Given the description of an element on the screen output the (x, y) to click on. 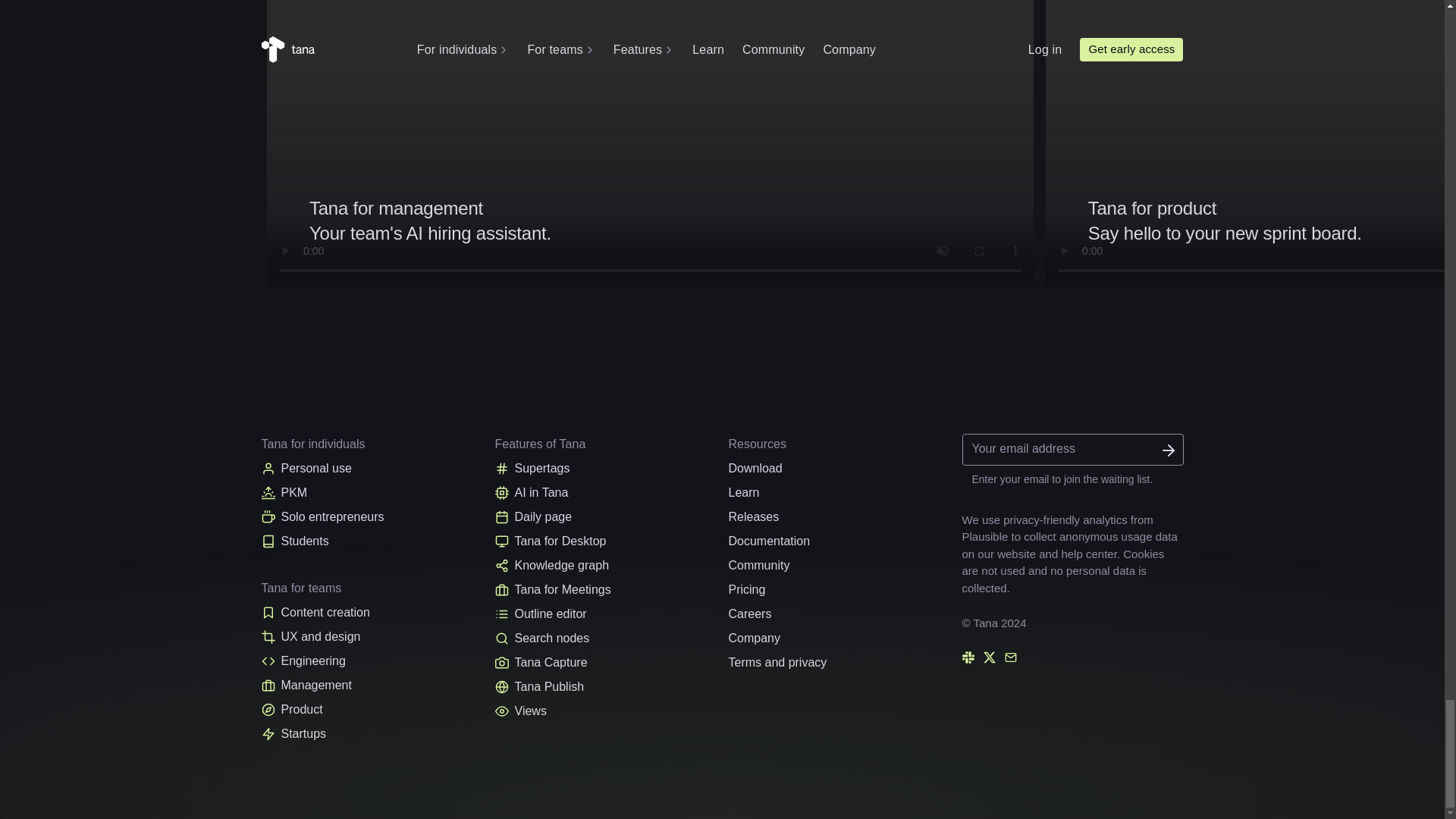
Daily page (605, 517)
Product (370, 709)
Supertags (605, 468)
AI in Tana (551, 220)
Management (605, 492)
UX and design (370, 685)
Content creation (370, 636)
Personal use (370, 612)
Tana for Desktop (370, 468)
Engineering (605, 541)
Startups (370, 661)
PKM (370, 733)
Solo entrepreneurs (370, 492)
Students (370, 517)
